Given the description of an element on the screen output the (x, y) to click on. 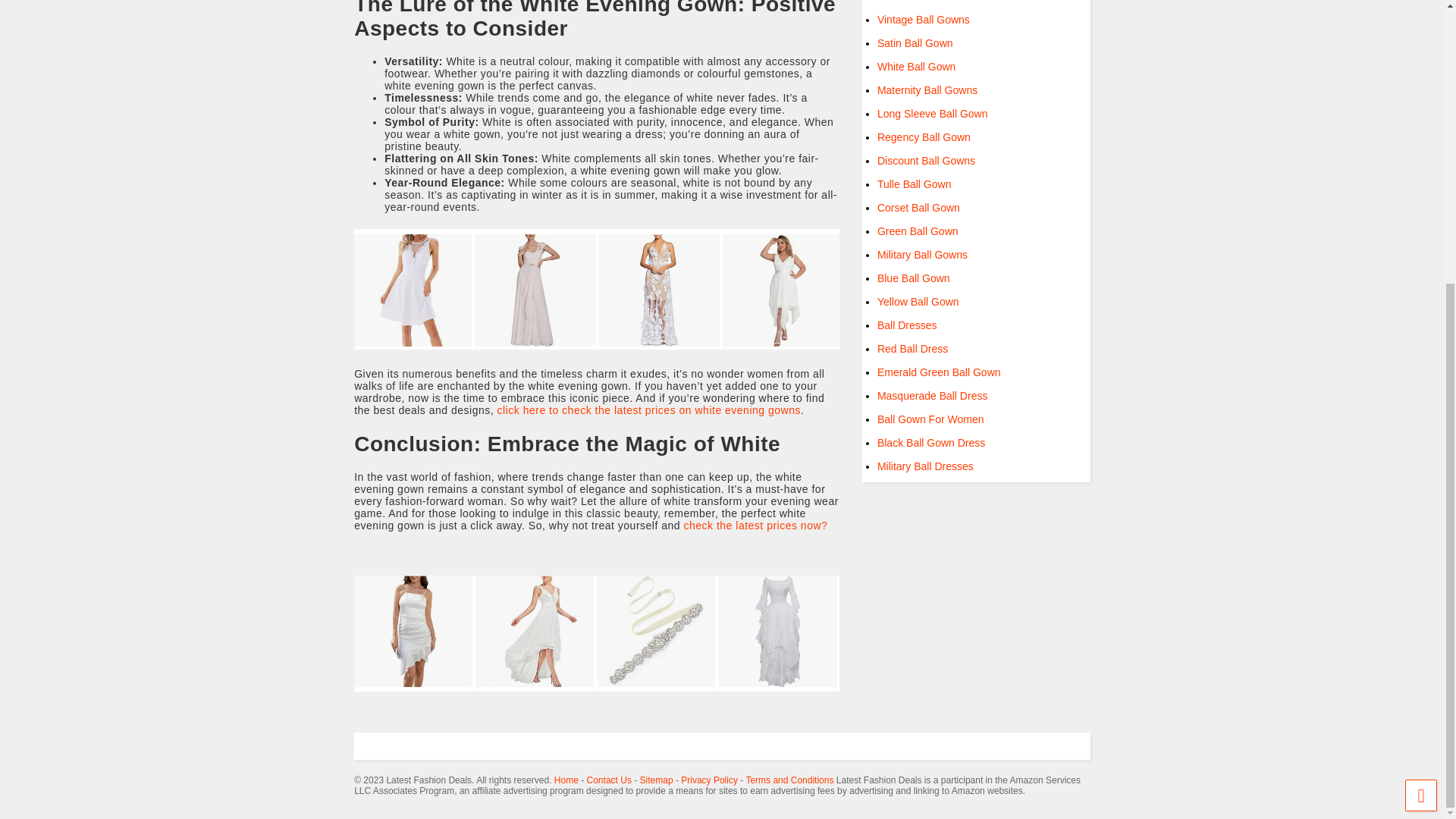
White Ball Gown (916, 66)
Vintage Ball Gowns (923, 19)
Princess Ball Gown (923, 1)
Maternity Ball Gowns (926, 90)
Long Sleeve Ball Gown (932, 113)
Discount Ball Gowns (926, 160)
Military Ball Gowns (922, 254)
Corset Ball Gown (918, 207)
Regency Ball Gown (924, 137)
Tulle Ball Gown (914, 184)
